Given the description of an element on the screen output the (x, y) to click on. 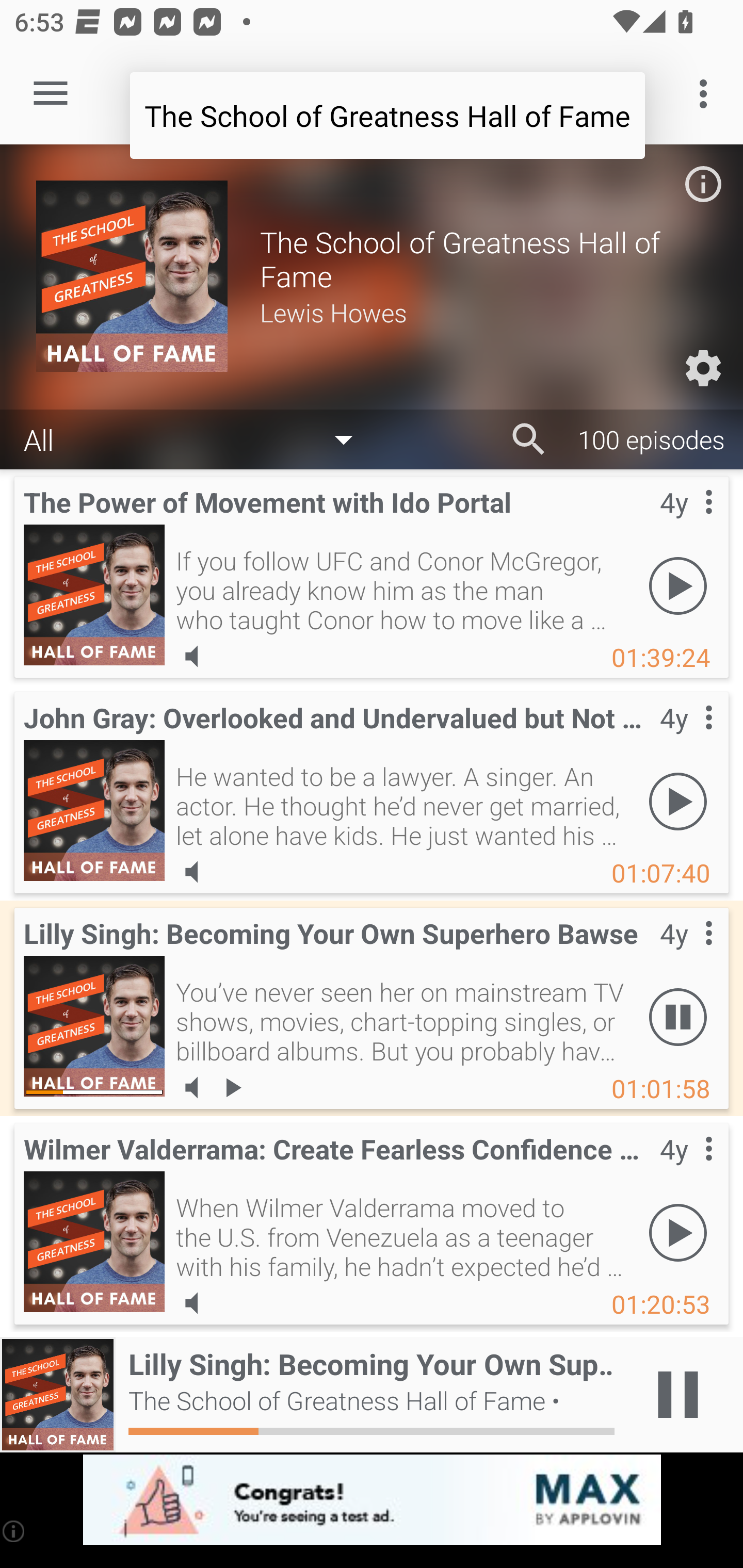
The School of Greatness Hall of Fame (387, 115)
